Given the description of an element on the screen output the (x, y) to click on. 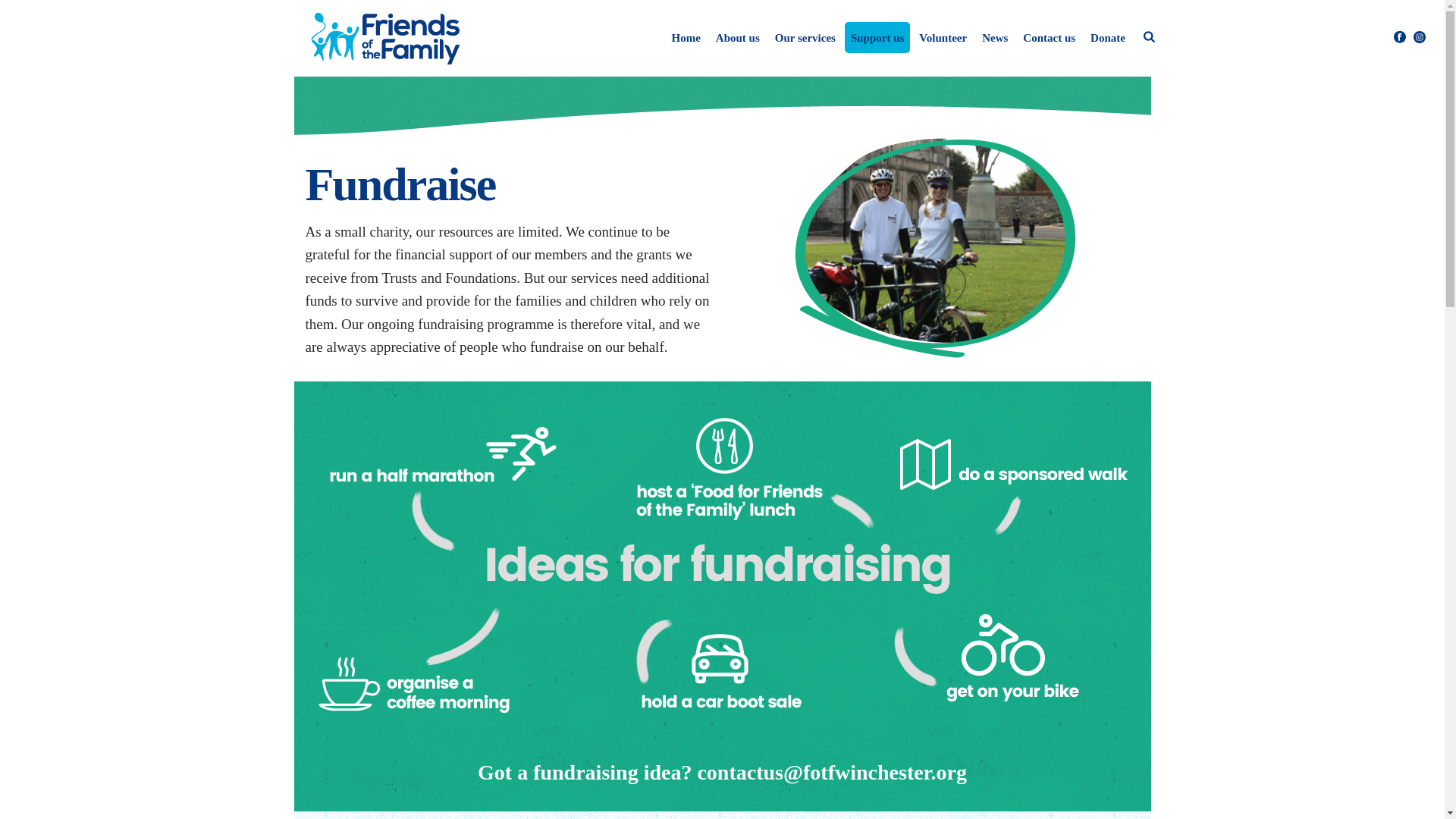
Volunteer (942, 37)
Support us (877, 37)
Our services (804, 37)
fundraise-winchester-circle-green (936, 247)
Our services (804, 37)
About us (737, 37)
Contact us (1048, 37)
Donate (1107, 37)
News (994, 37)
Support us (877, 37)
